Given the description of an element on the screen output the (x, y) to click on. 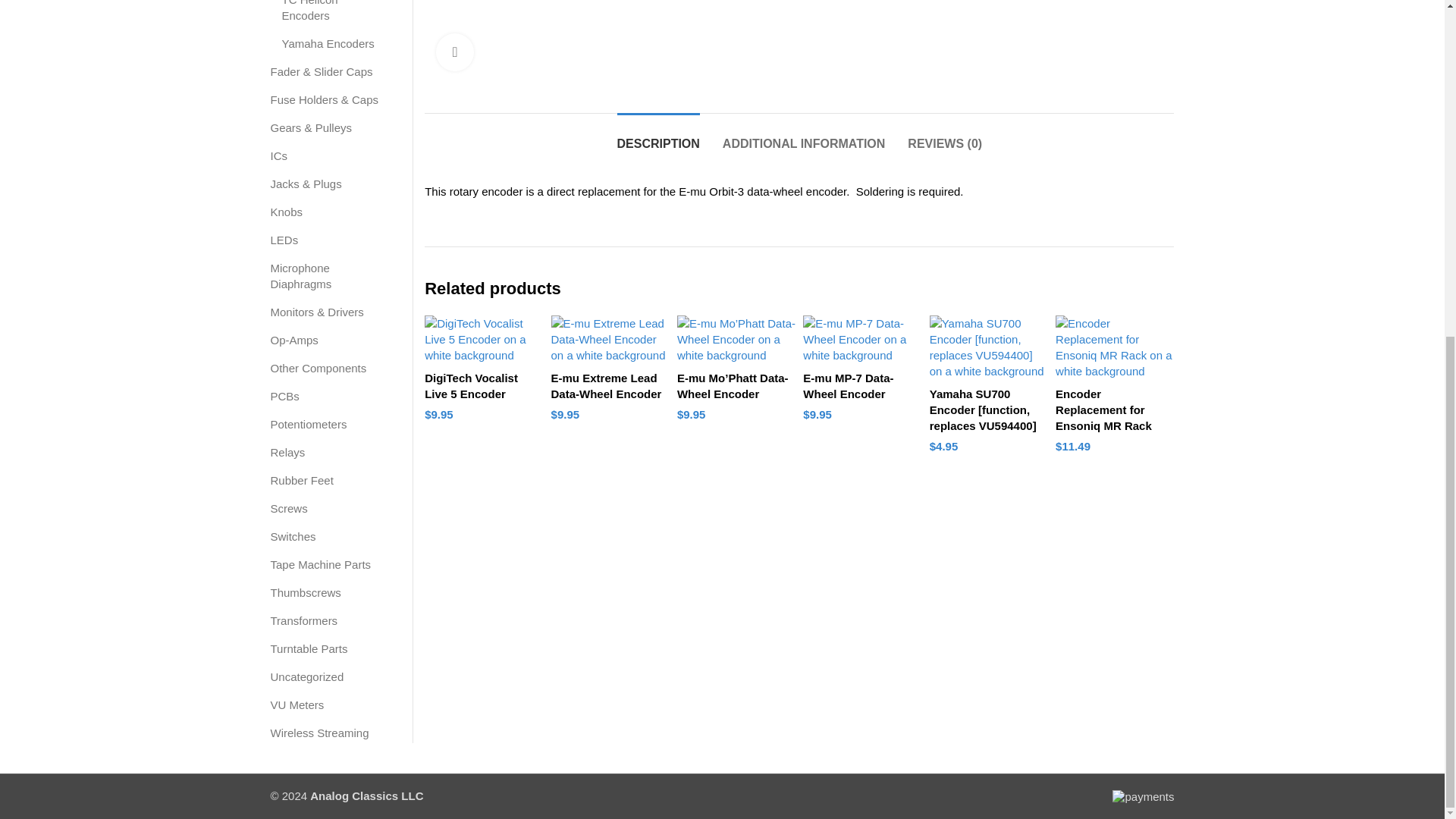
E-mu Extreme Lead Data-Wheel Encoder (610, 339)
E-mu Orbit-3 Data-Wheel Encoder (671, 41)
DigiTech Vocalist Live 5 Encoder (484, 339)
E-mu MP-7 Data-Wheel Encoder (862, 339)
